Given the description of an element on the screen output the (x, y) to click on. 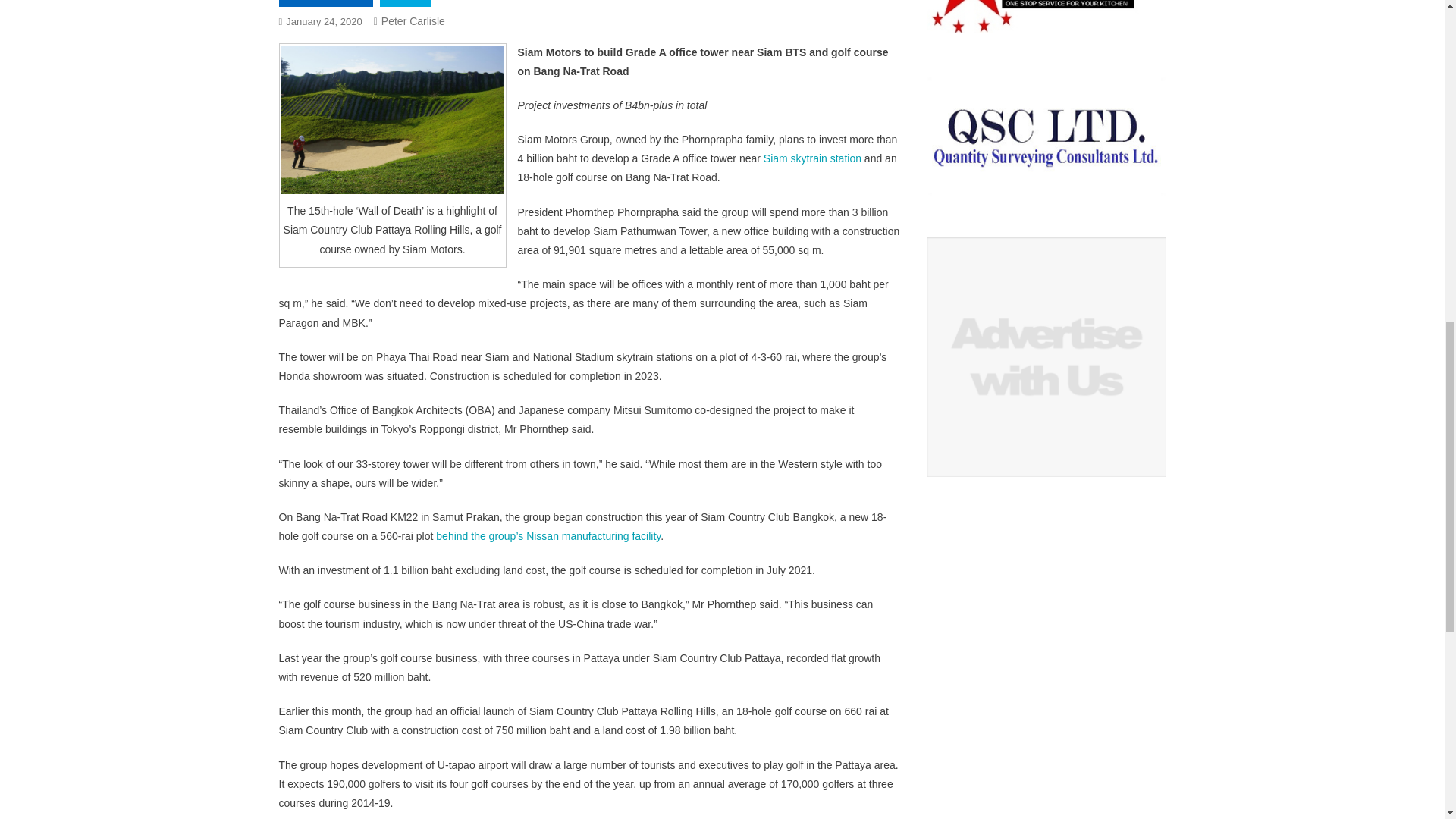
Siam skytrain station (811, 158)
Peter Carlisle (413, 21)
Construction News (326, 3)
Vietnam (405, 3)
January 24, 2020 (323, 21)
